Given the description of an element on the screen output the (x, y) to click on. 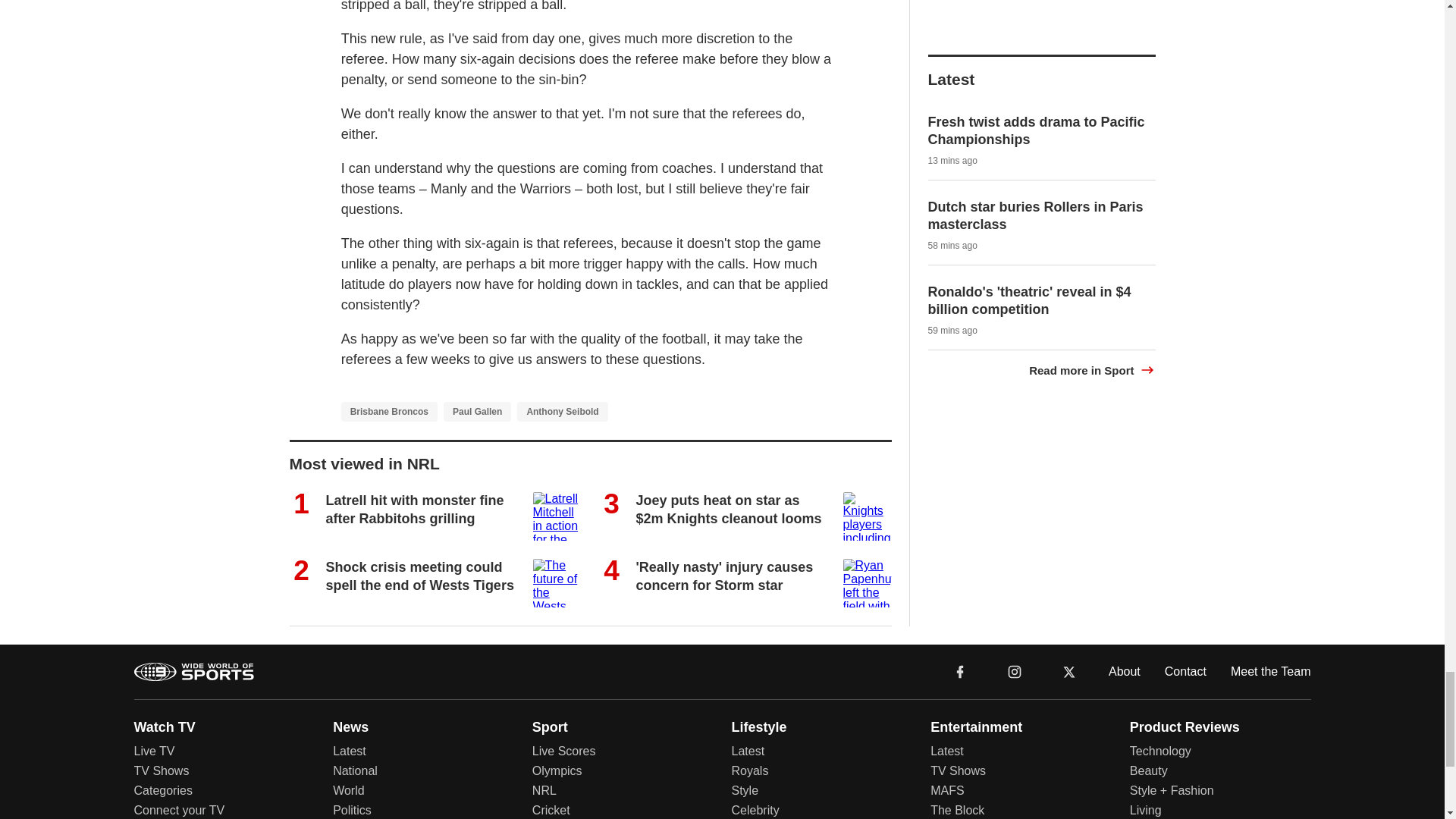
Paul Gallen (477, 411)
Anthony Seibold (561, 411)
'Really nasty' injury causes concern for Storm star (723, 575)
instagram (1013, 670)
facebook (960, 671)
facebook (959, 670)
Shock crisis meeting could spell the end of Wests Tigers (419, 575)
Brisbane Broncos (389, 411)
x (1069, 671)
instagram (1014, 671)
